Given the description of an element on the screen output the (x, y) to click on. 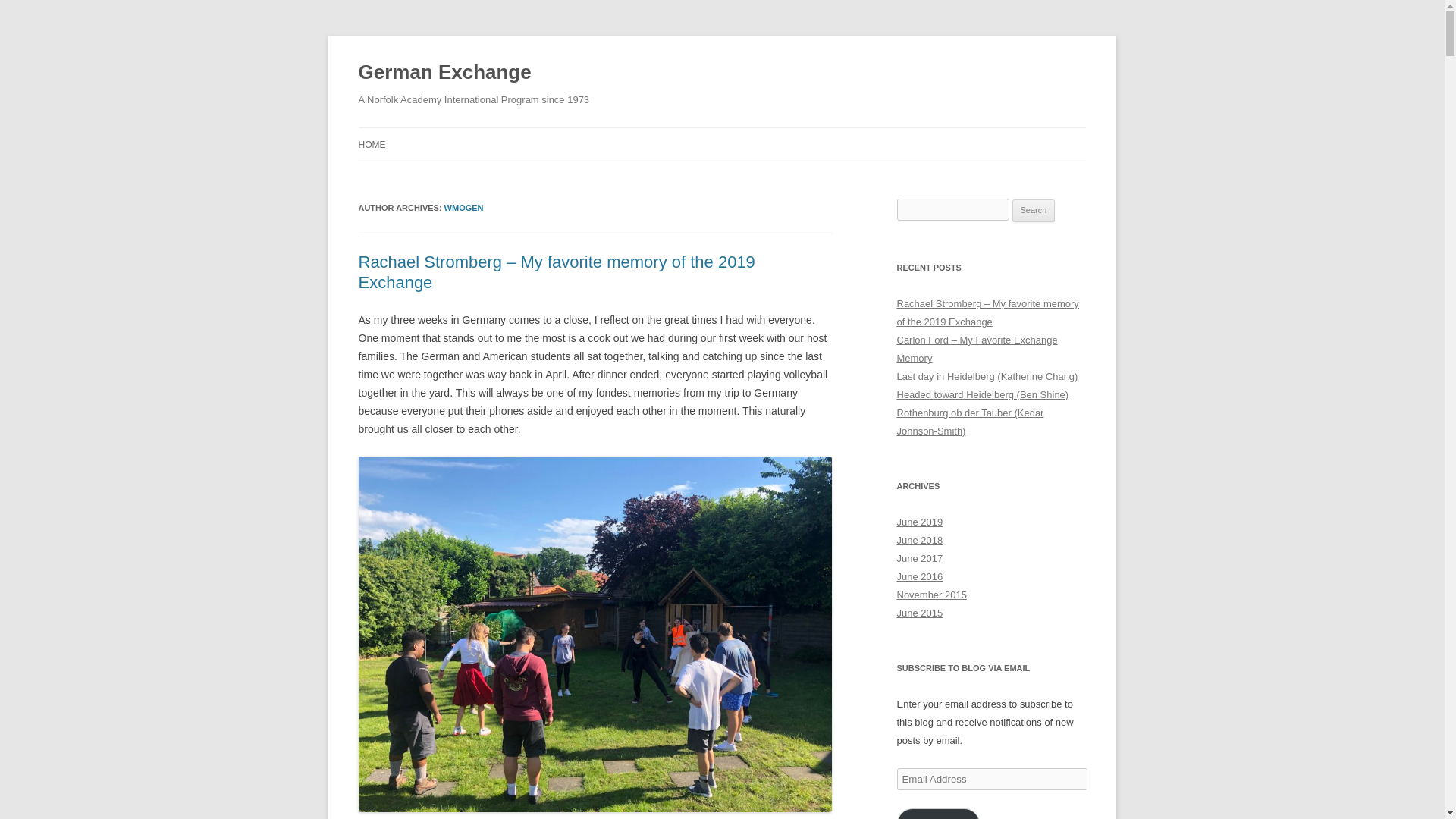
Search (1033, 210)
German Exchange (444, 72)
WMOGEN (463, 207)
